Given the description of an element on the screen output the (x, y) to click on. 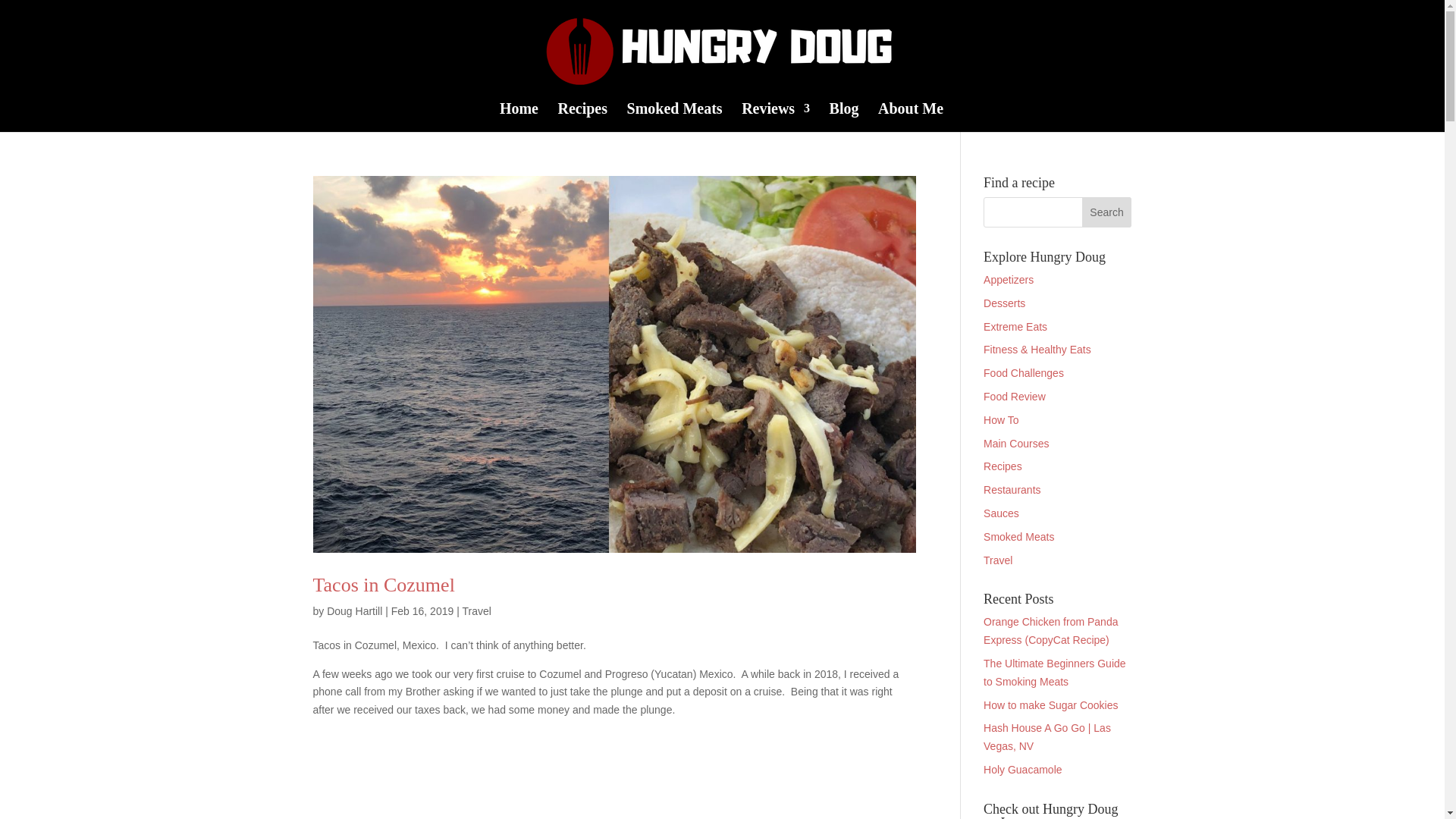
Recipes (582, 117)
Reviews (775, 117)
Food Challenges (1024, 372)
Travel (475, 611)
Main Courses (1016, 443)
Home (518, 117)
Doug Hartill (353, 611)
Desserts (1004, 303)
Appetizers (1008, 279)
Blog (844, 117)
How To (1000, 419)
Tacos in Cozumel (383, 585)
Recipes (1003, 466)
Posts by Doug Hartill (353, 611)
Restaurants (1012, 490)
